Given the description of an element on the screen output the (x, y) to click on. 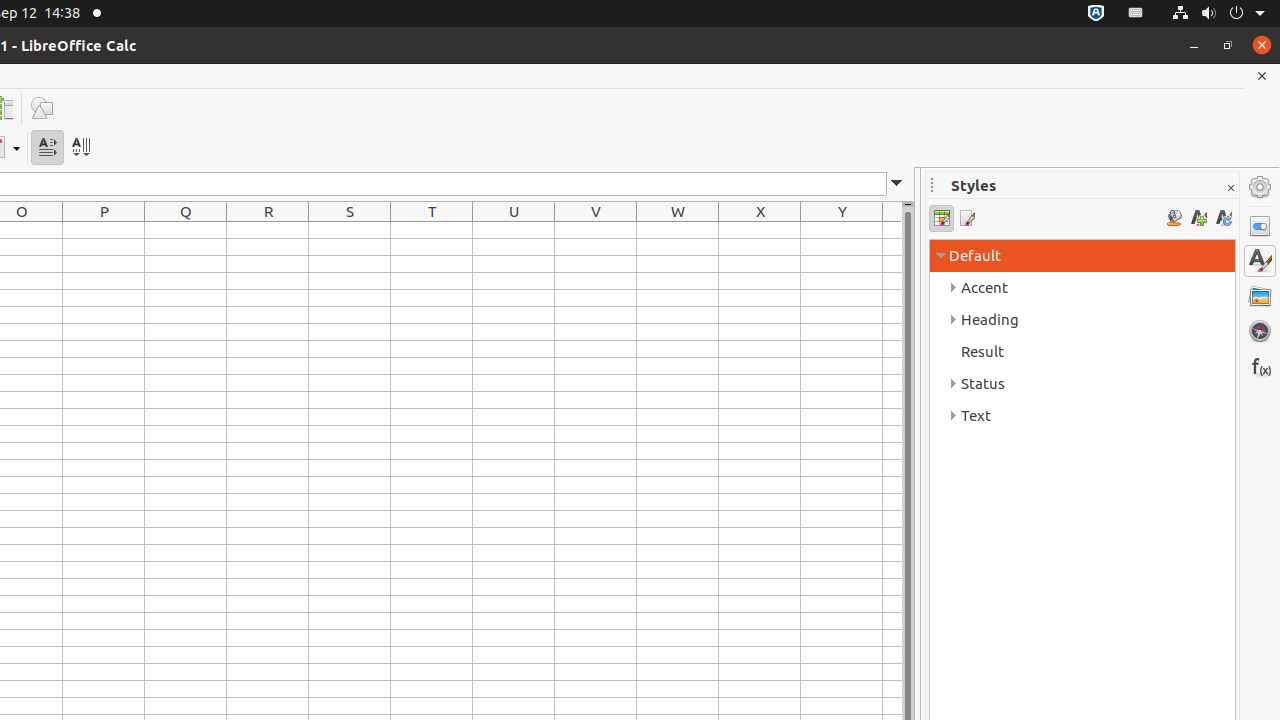
Expand Formula Bar Element type: push-button (897, 183)
S1 Element type: table-cell (350, 230)
Page Styles Element type: push-button (966, 218)
Update Style Element type: push-button (1223, 218)
Close Sidebar Deck Element type: push-button (1230, 188)
